Given the description of an element on the screen output the (x, y) to click on. 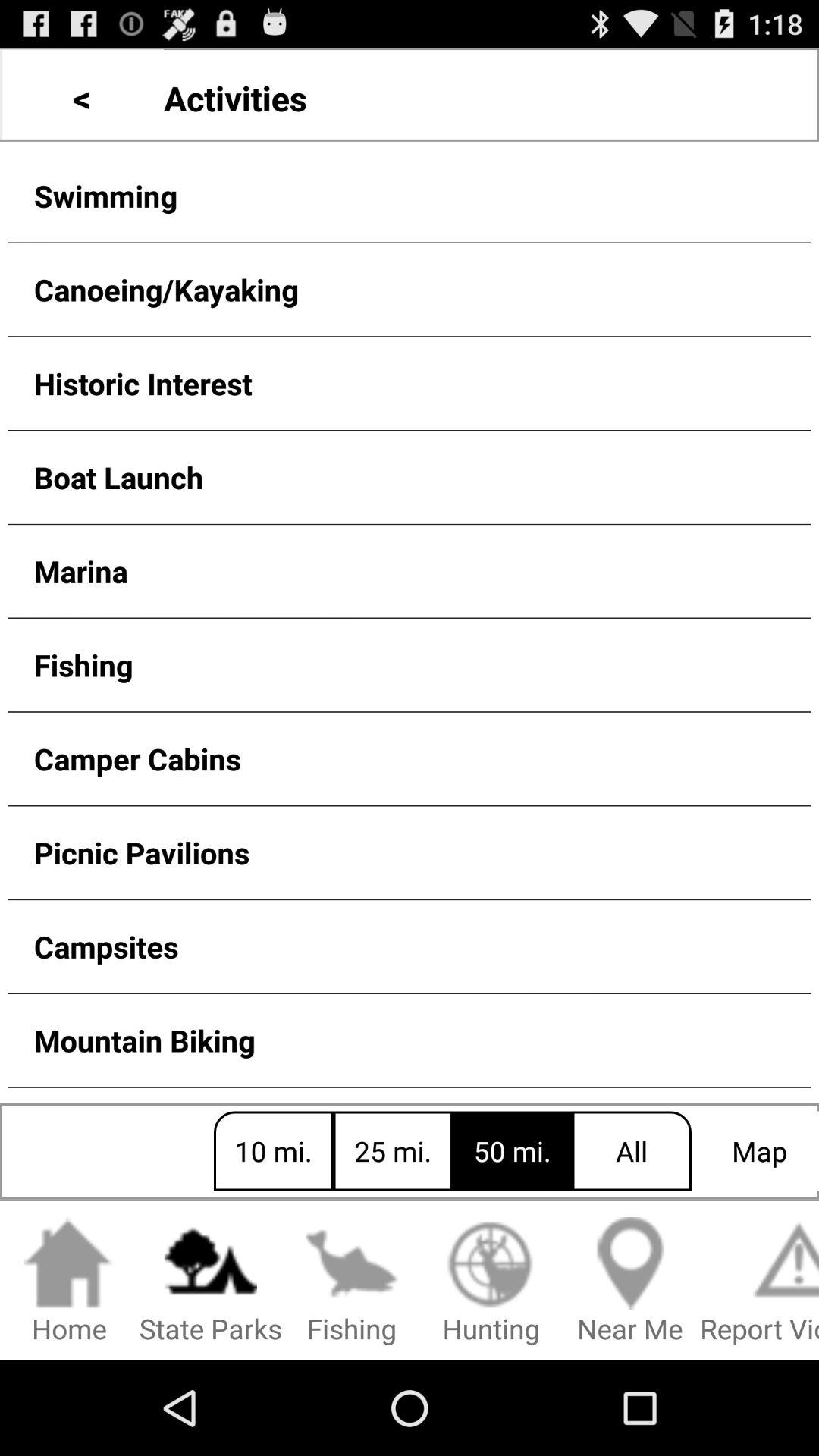
click item next to the fishing item (210, 1282)
